Given the description of an element on the screen output the (x, y) to click on. 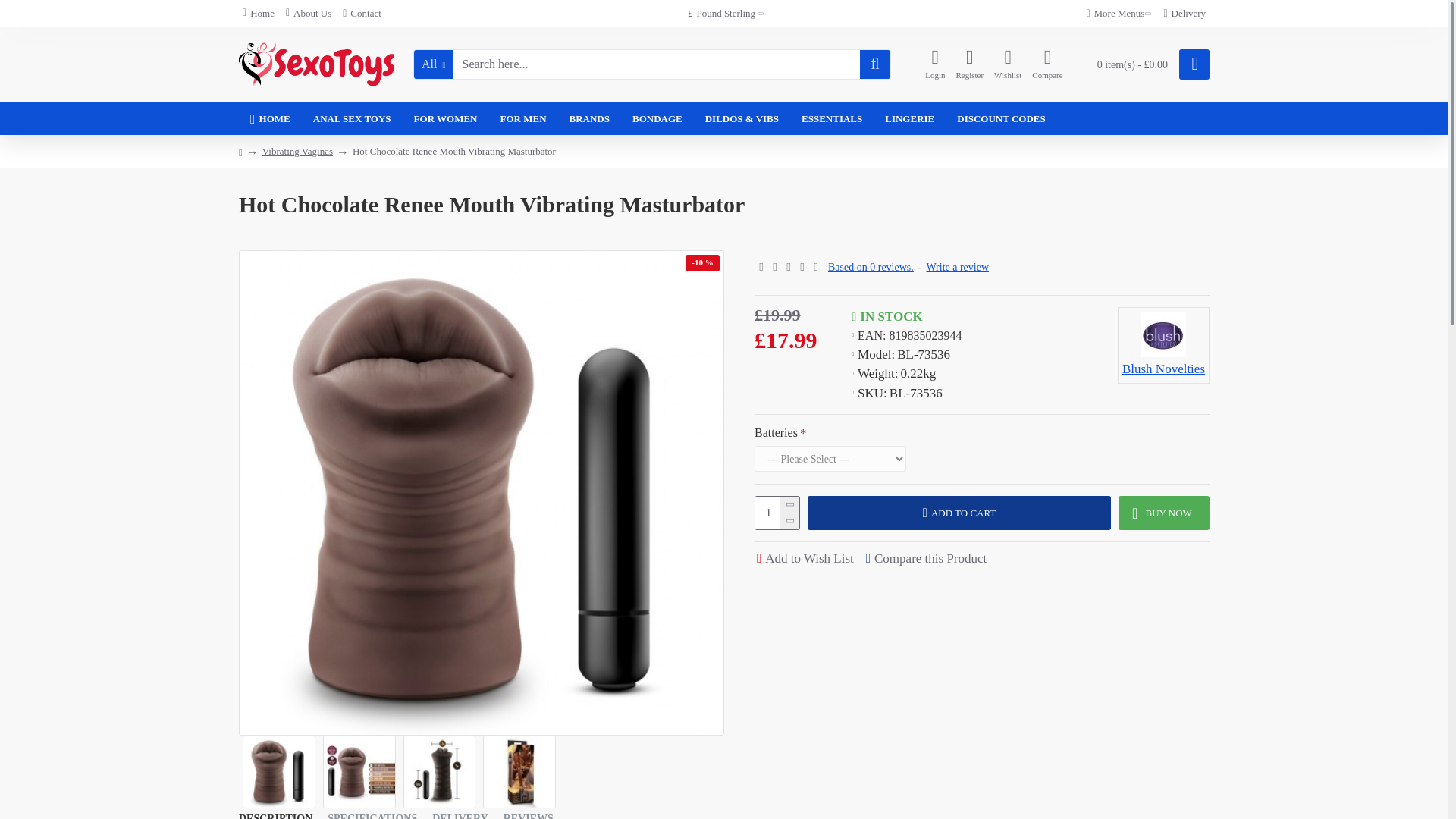
Home (258, 13)
Hot Chocolate Renee Mouth Vibrating Masturbator (439, 771)
Contact (362, 13)
Hot Chocolate Renee Mouth Vibrating Masturbator (279, 771)
More Menus (1118, 13)
Hot Chocolate Renee Mouth Vibrating Masturbator (519, 771)
Delivery (1183, 13)
1 (777, 512)
sexotoys (316, 64)
